Given the description of an element on the screen output the (x, y) to click on. 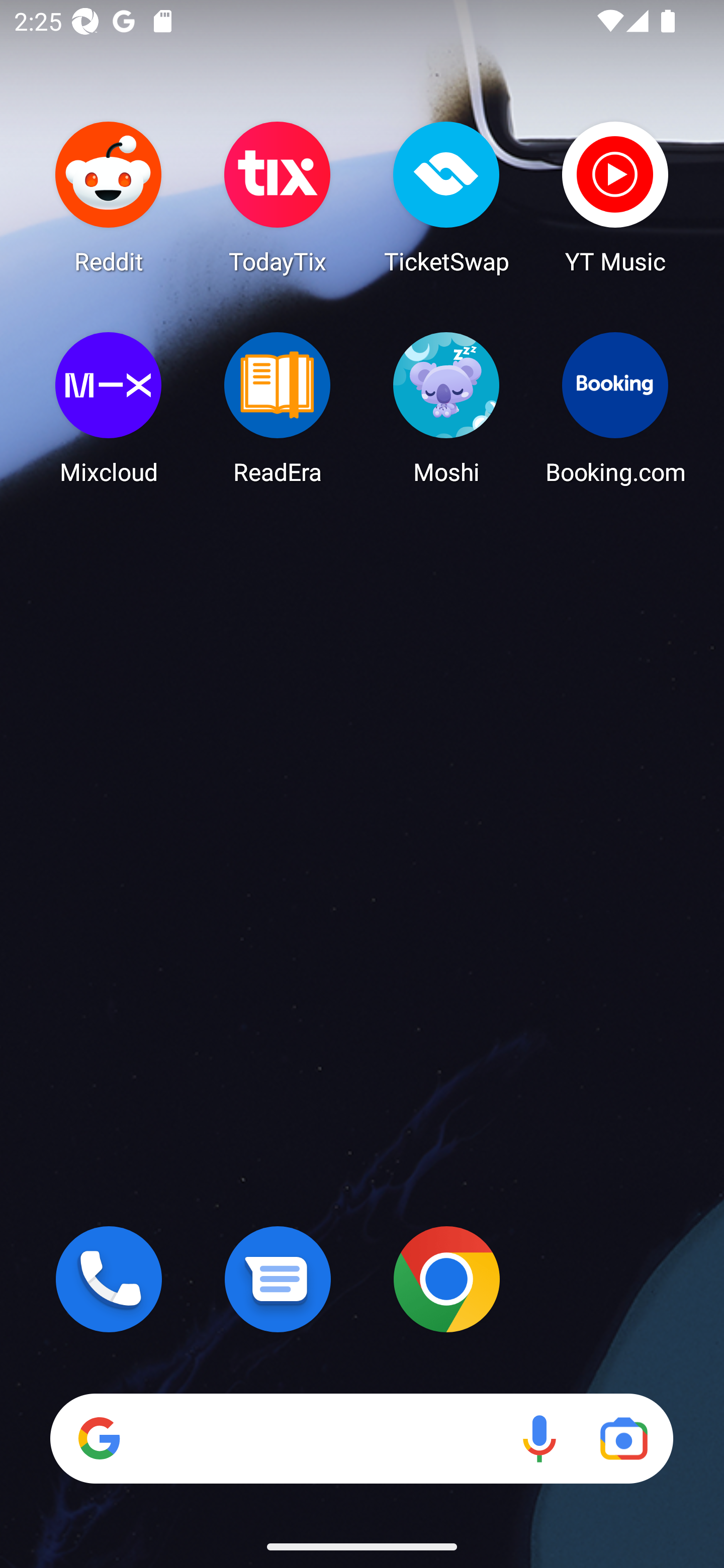
Reddit (108, 196)
TodayTix (277, 196)
TicketSwap (445, 196)
YT Music (615, 196)
Mixcloud (108, 407)
ReadEra (277, 407)
Moshi (445, 407)
Booking.com (615, 407)
Phone (108, 1279)
Messages (277, 1279)
Chrome (446, 1279)
Search Voice search Google Lens (361, 1438)
Voice search (539, 1438)
Google Lens (623, 1438)
